Given the description of an element on the screen output the (x, y) to click on. 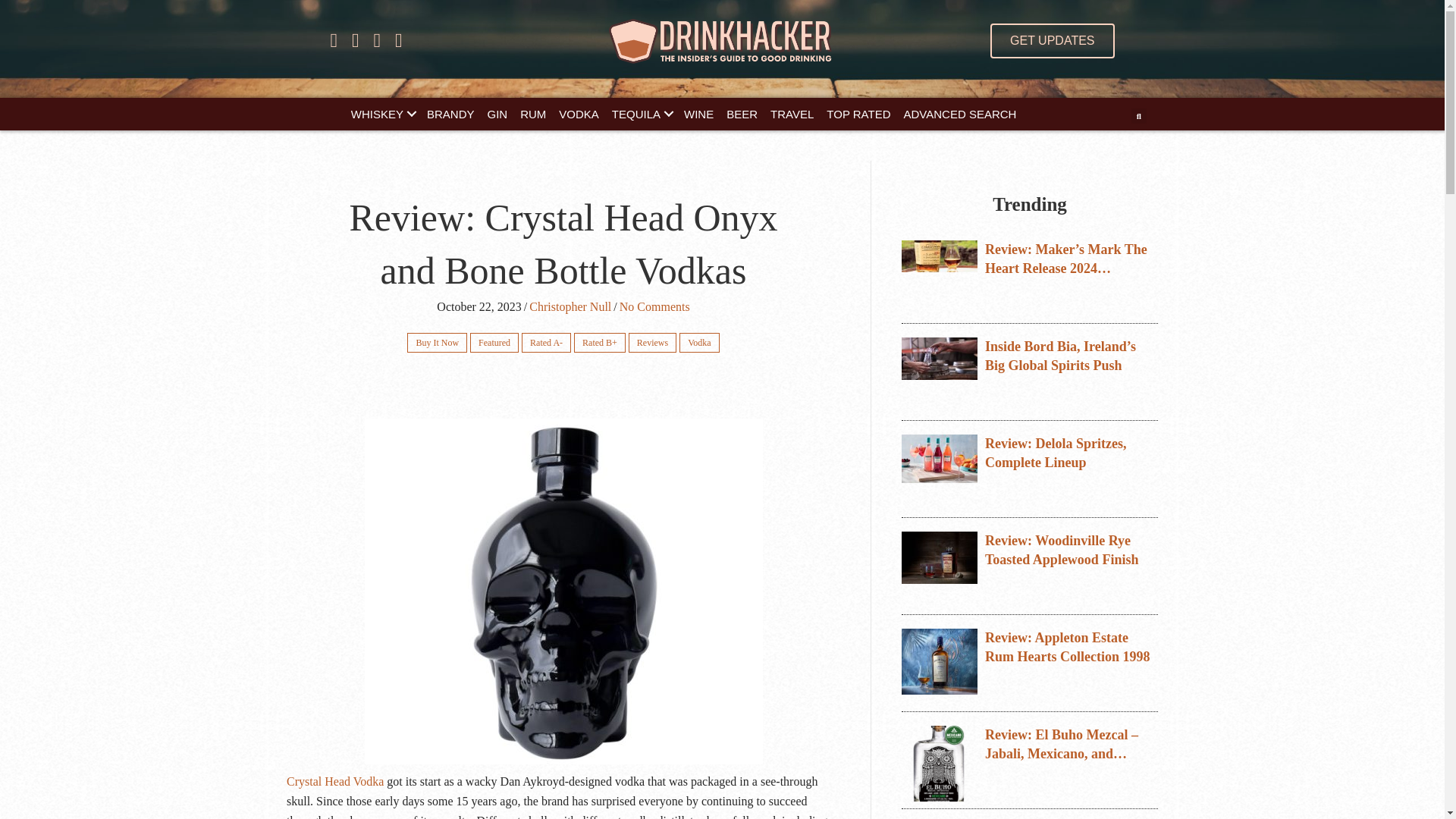
BRANDY (450, 113)
drinkhacker-logo-pinktag-transparent (721, 40)
Click Here (1051, 40)
TEQUILA (641, 113)
TOP RATED (858, 113)
WINE (698, 113)
ADVANCED SEARCH (960, 113)
TRAVEL (791, 113)
GET UPDATES (1051, 40)
WHISKEY (382, 113)
